Given the description of an element on the screen output the (x, y) to click on. 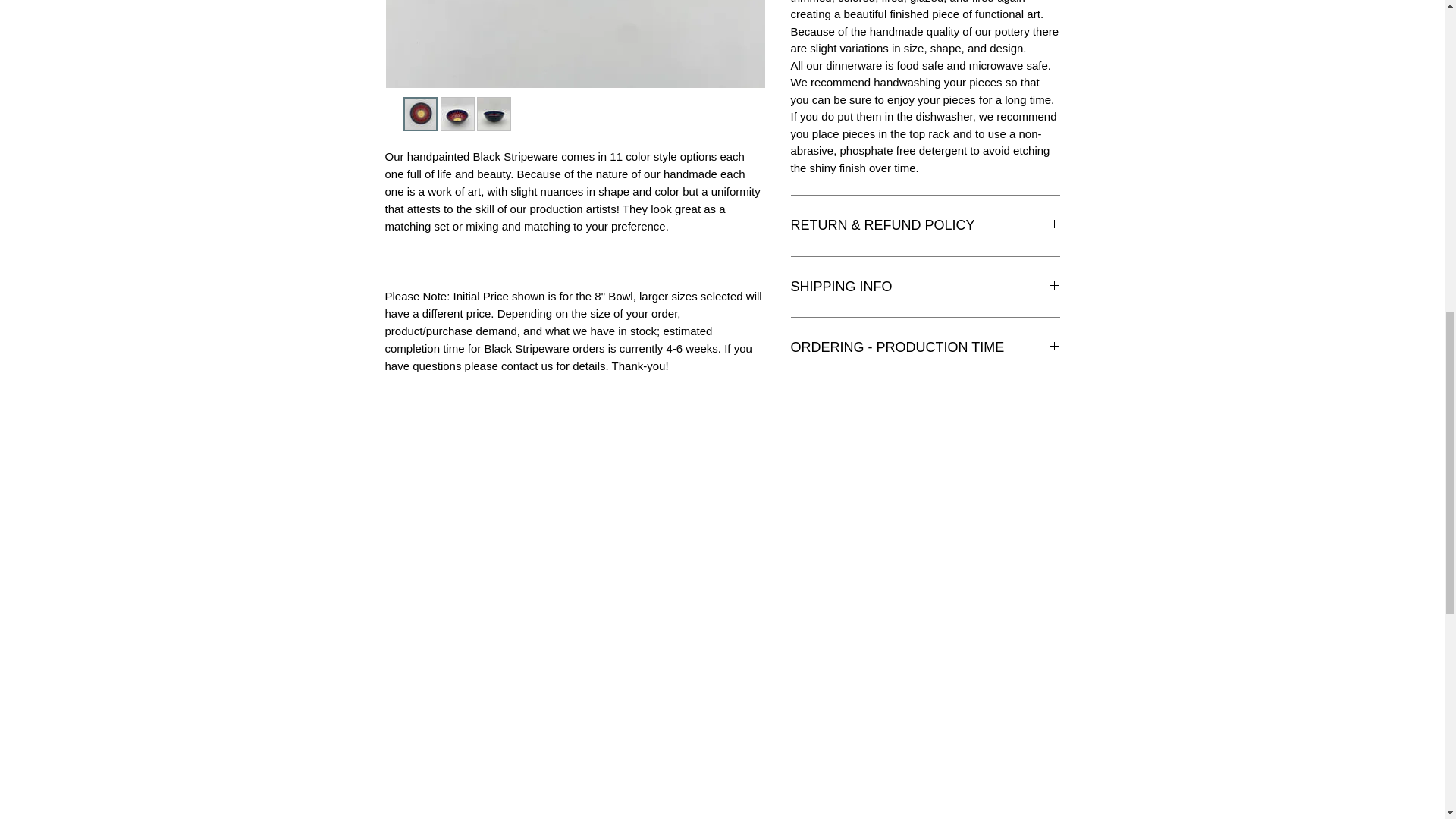
ORDERING - PRODUCTION TIME (924, 347)
SHIPPING INFO (924, 287)
